Given the description of an element on the screen output the (x, y) to click on. 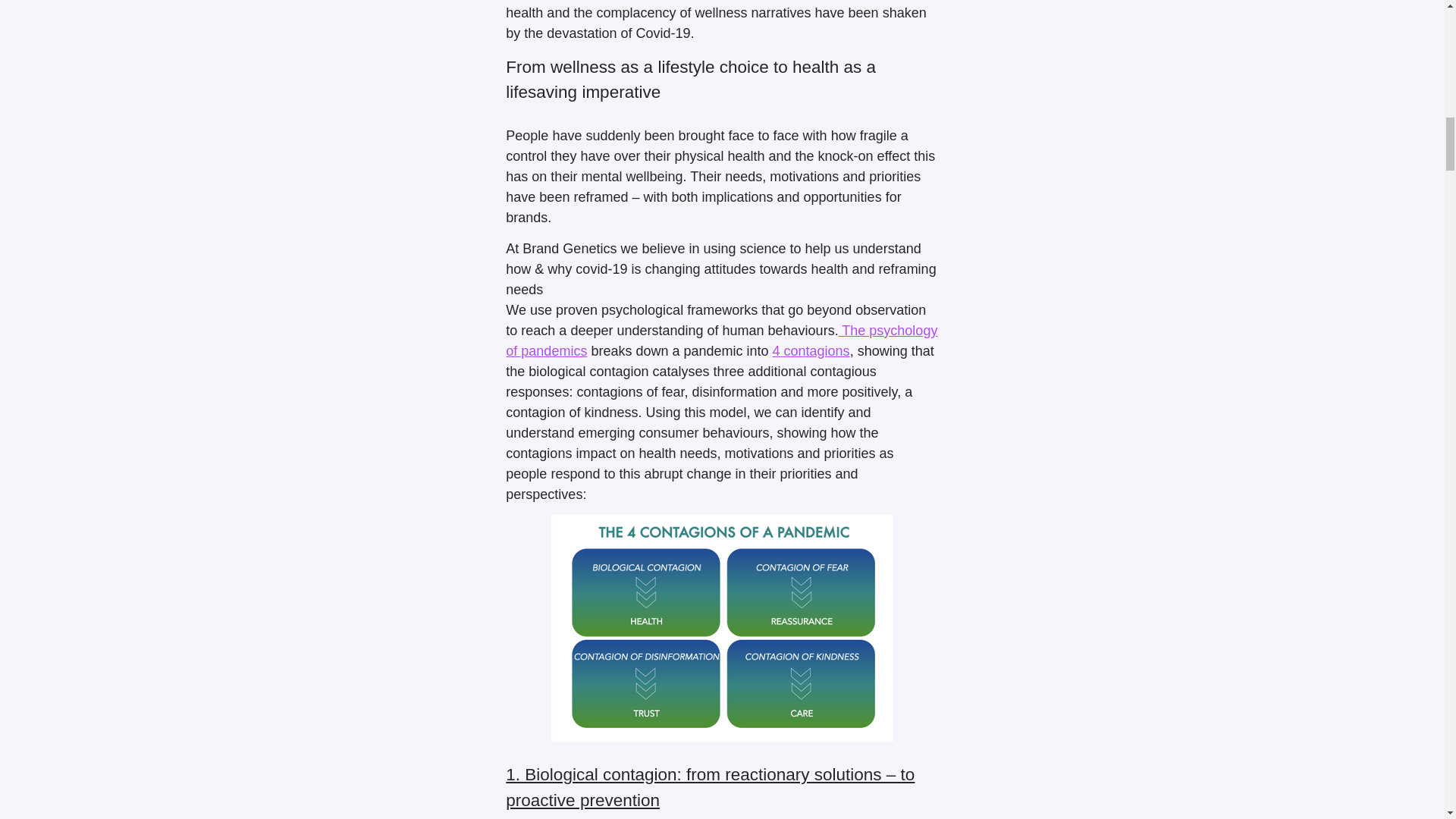
4 contagions (811, 350)
The psychology of pandemics (721, 340)
